Given the description of an element on the screen output the (x, y) to click on. 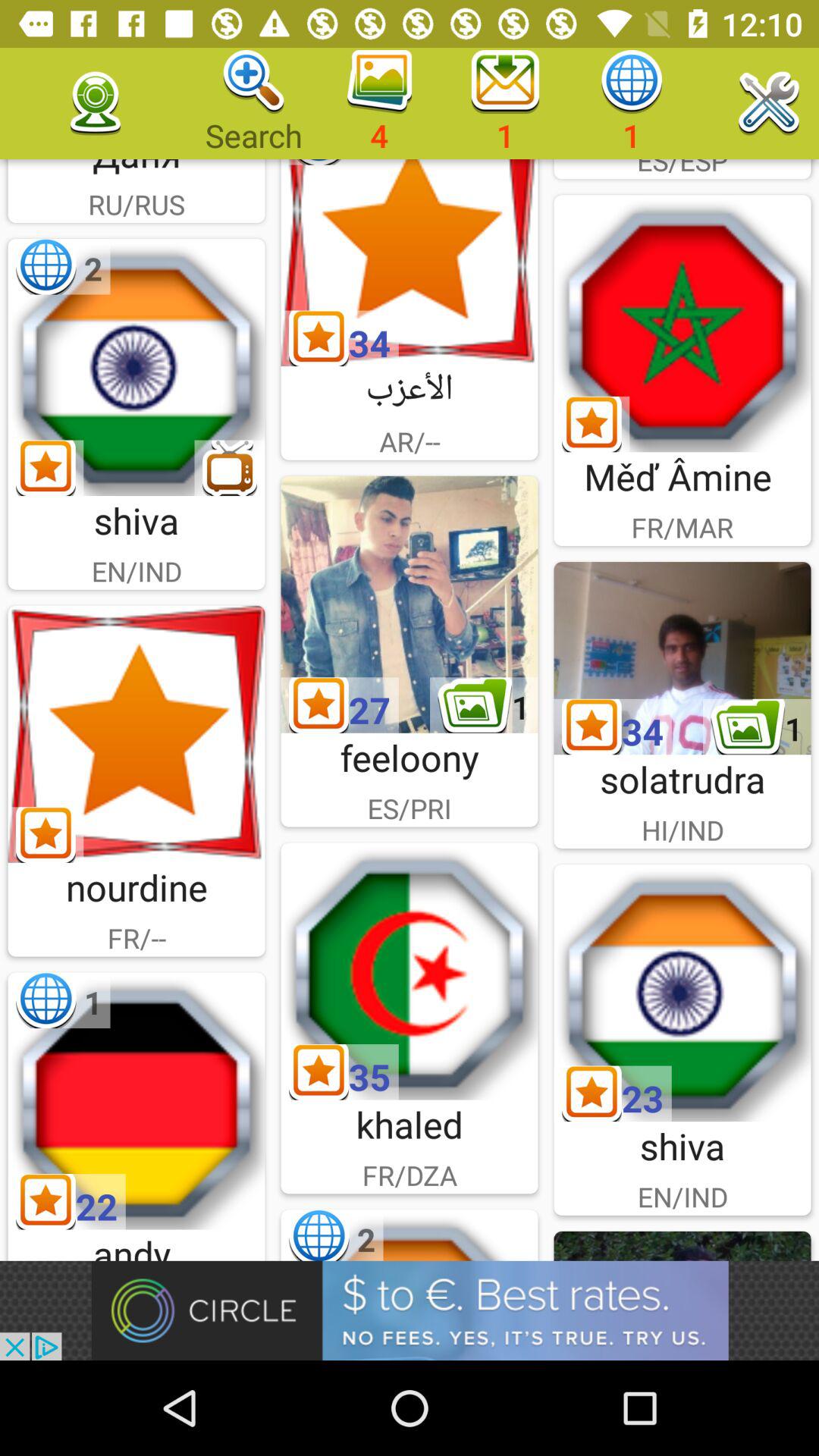
star (409, 262)
